Given the description of an element on the screen output the (x, y) to click on. 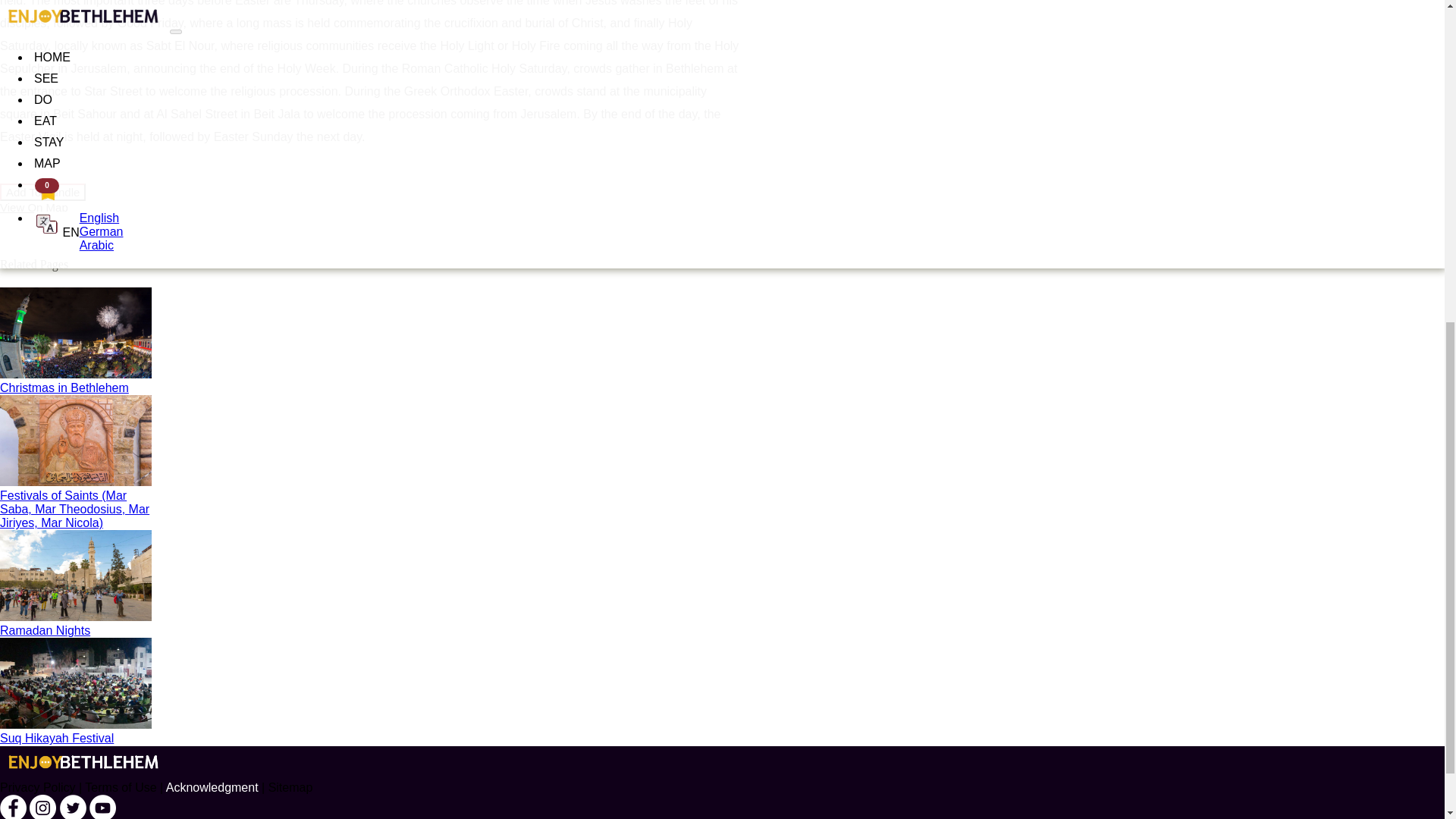
Suq Hikayah Festival (371, 691)
View On Map (34, 206)
Ramadan Nights (371, 583)
Add To Bundle (42, 191)
Acknowledgment (212, 787)
Christmas in Bethlehem (371, 340)
